Given the description of an element on the screen output the (x, y) to click on. 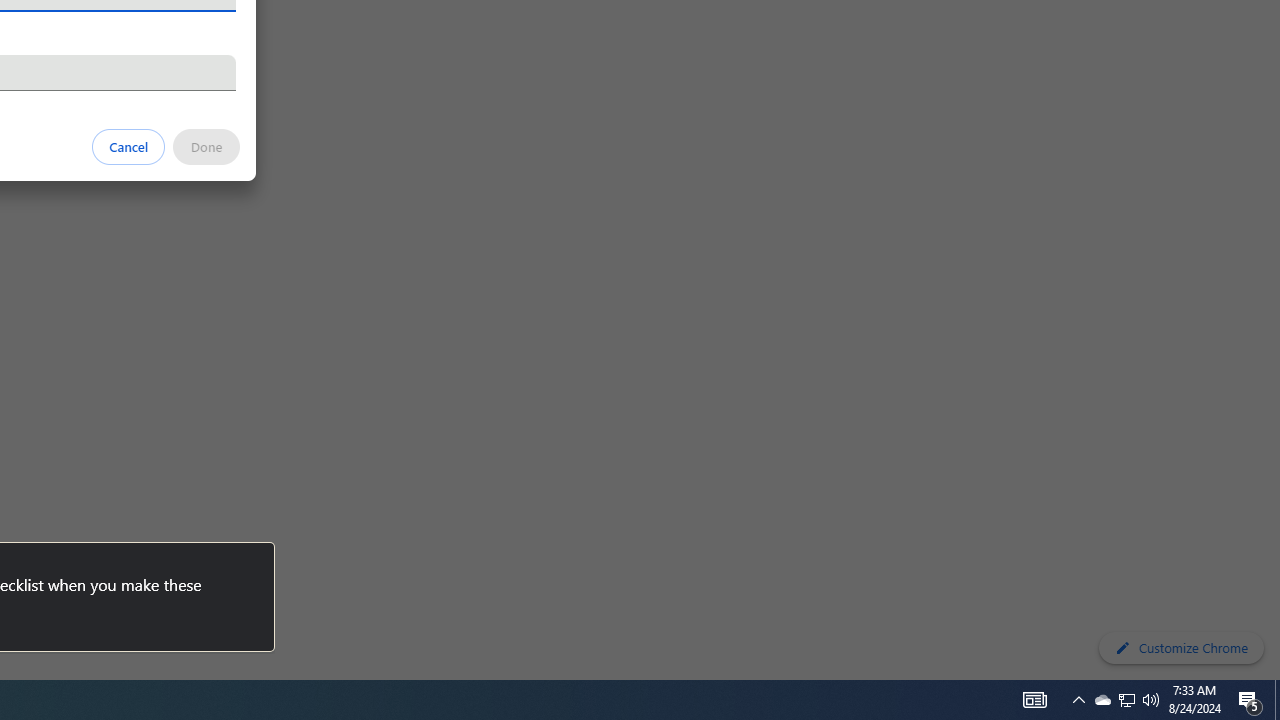
Cancel (129, 146)
Done (206, 146)
